Given the description of an element on the screen output the (x, y) to click on. 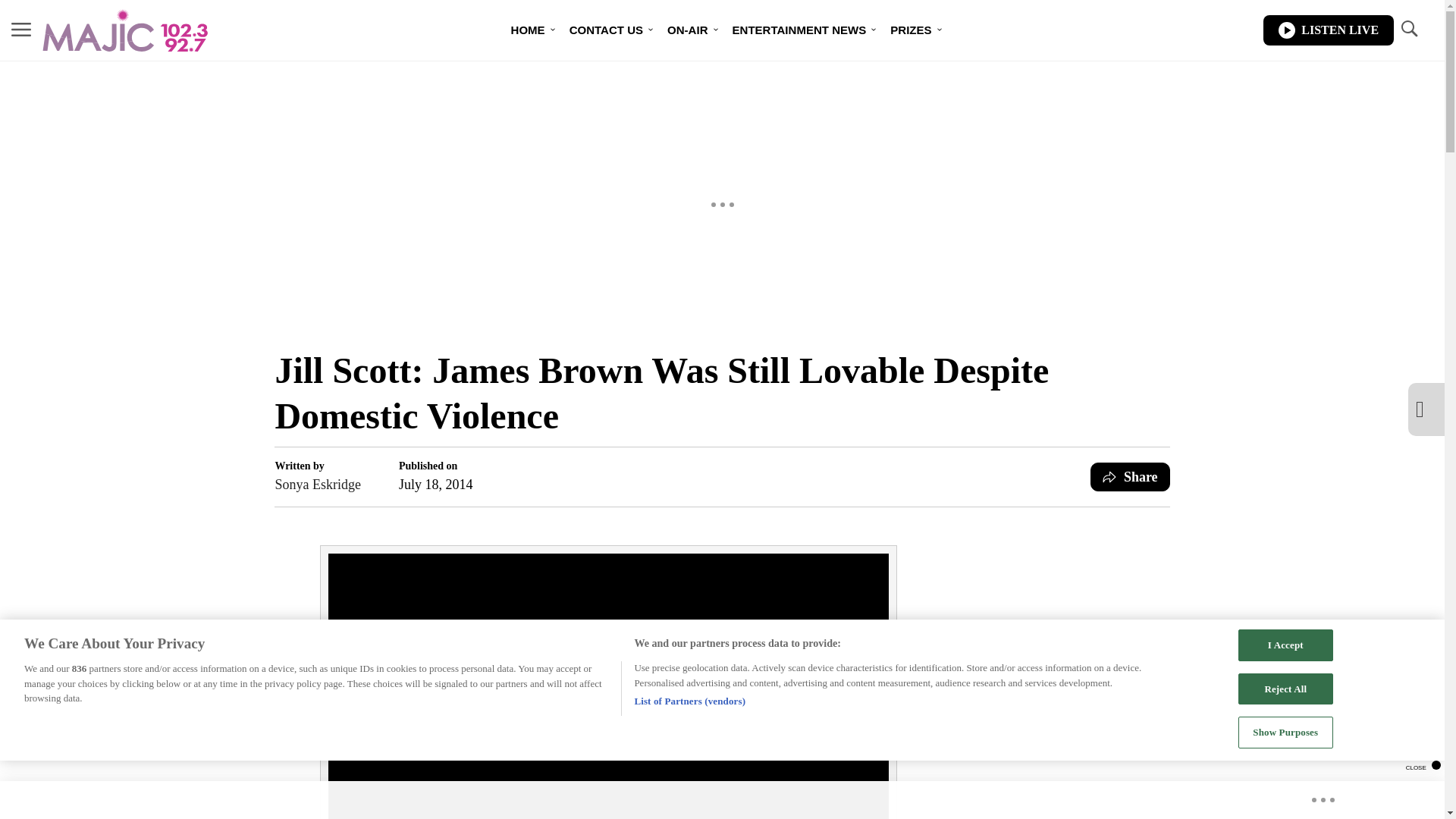
HOME (528, 30)
MENU (20, 30)
ON-AIR (687, 30)
TOGGLE SEARCH (1408, 28)
ENTERTAINMENT NEWS (799, 30)
MENU (20, 29)
LISTEN LIVE (1328, 30)
Share (1130, 476)
PRIZES (910, 30)
CONTACT US (606, 30)
TOGGLE SEARCH (1408, 30)
Sonya Eskridge (317, 484)
